Given the description of an element on the screen output the (x, y) to click on. 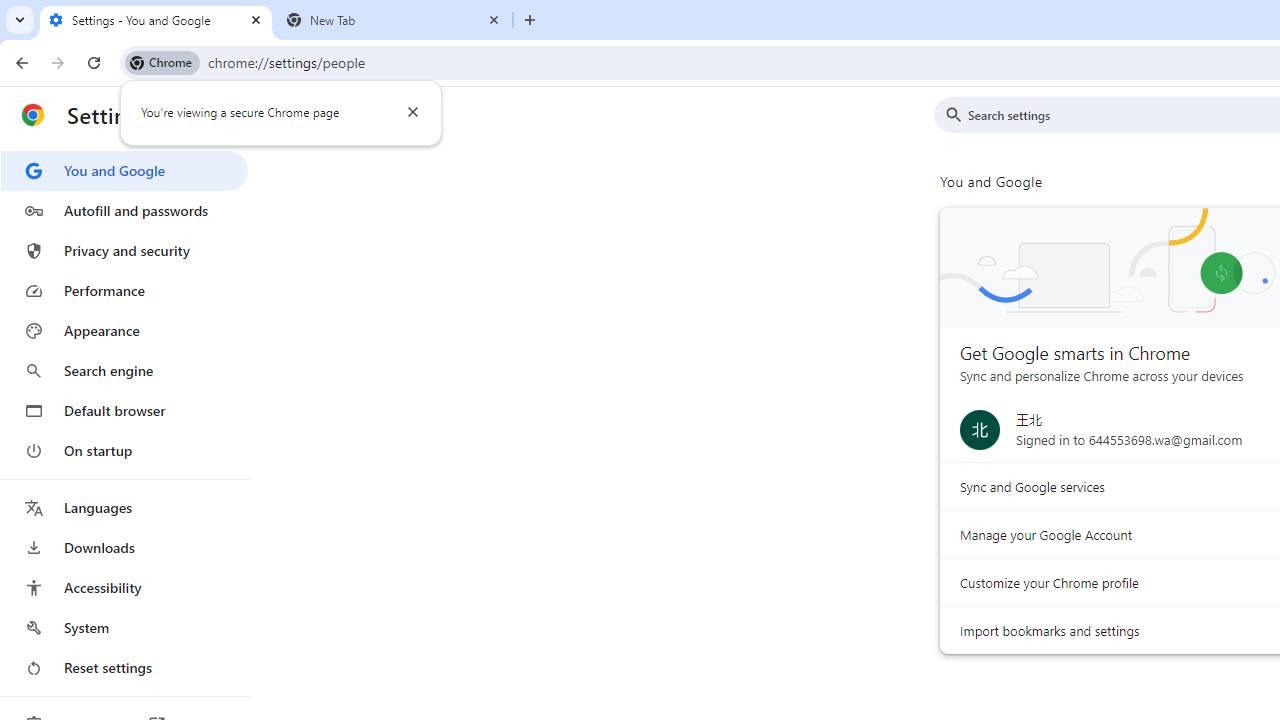
Accessibility (124, 587)
Languages (124, 507)
New Tab (394, 20)
Autofill and passwords (124, 210)
Settings - You and Google (156, 20)
